Given the description of an element on the screen output the (x, y) to click on. 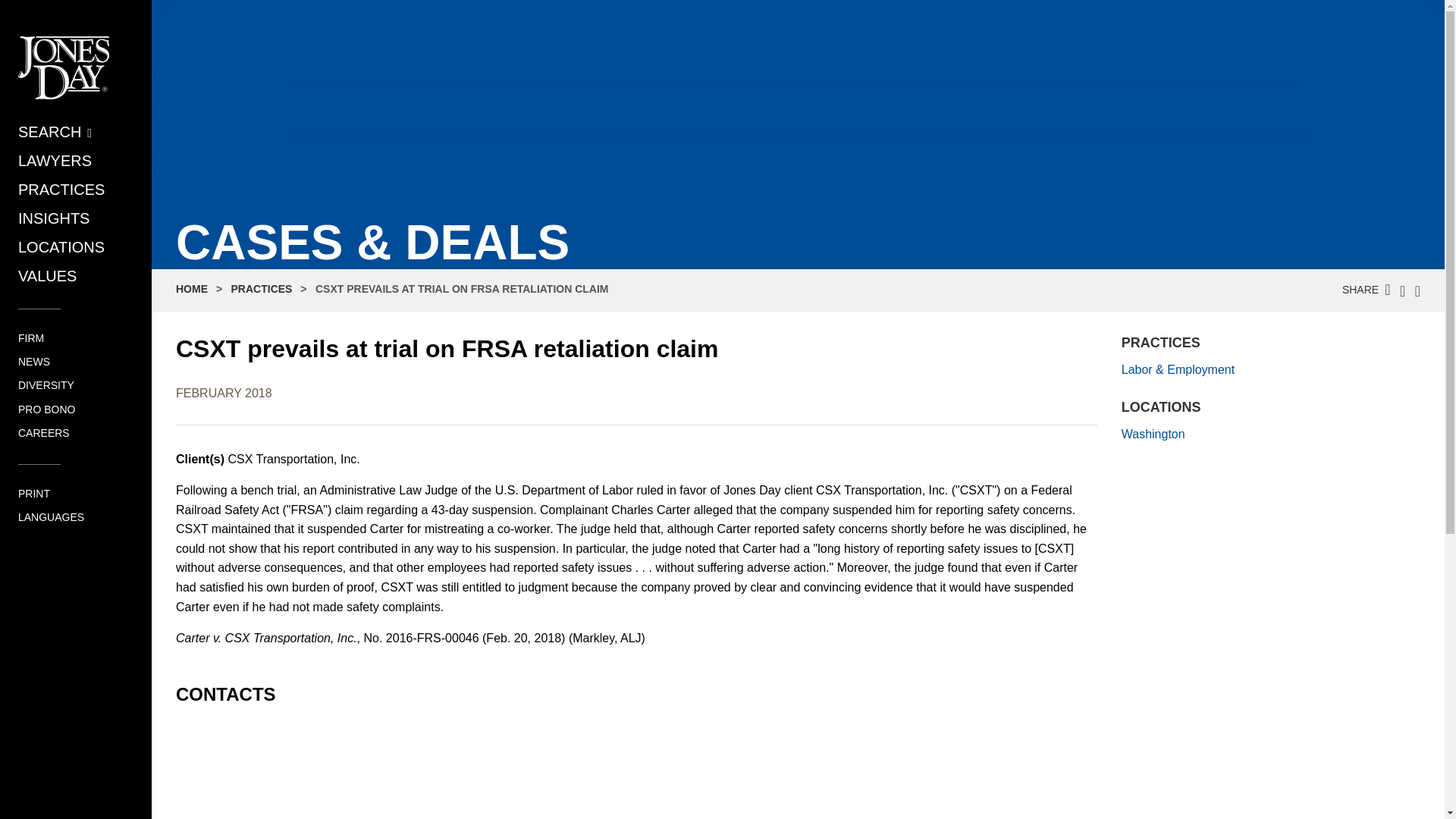
HOME (192, 288)
SEARCH (54, 131)
INSIGHTS (52, 217)
LANGUAGES (50, 517)
NEWS (33, 361)
PRACTICES (60, 189)
DIVERSITY (45, 385)
CAREERS (43, 432)
PRO BONO (46, 409)
LAWYERS (54, 160)
VALUES (47, 275)
FIRM (30, 337)
PRACTICES (261, 288)
PRINT (33, 493)
LOCATIONS (60, 247)
